Given the description of an element on the screen output the (x, y) to click on. 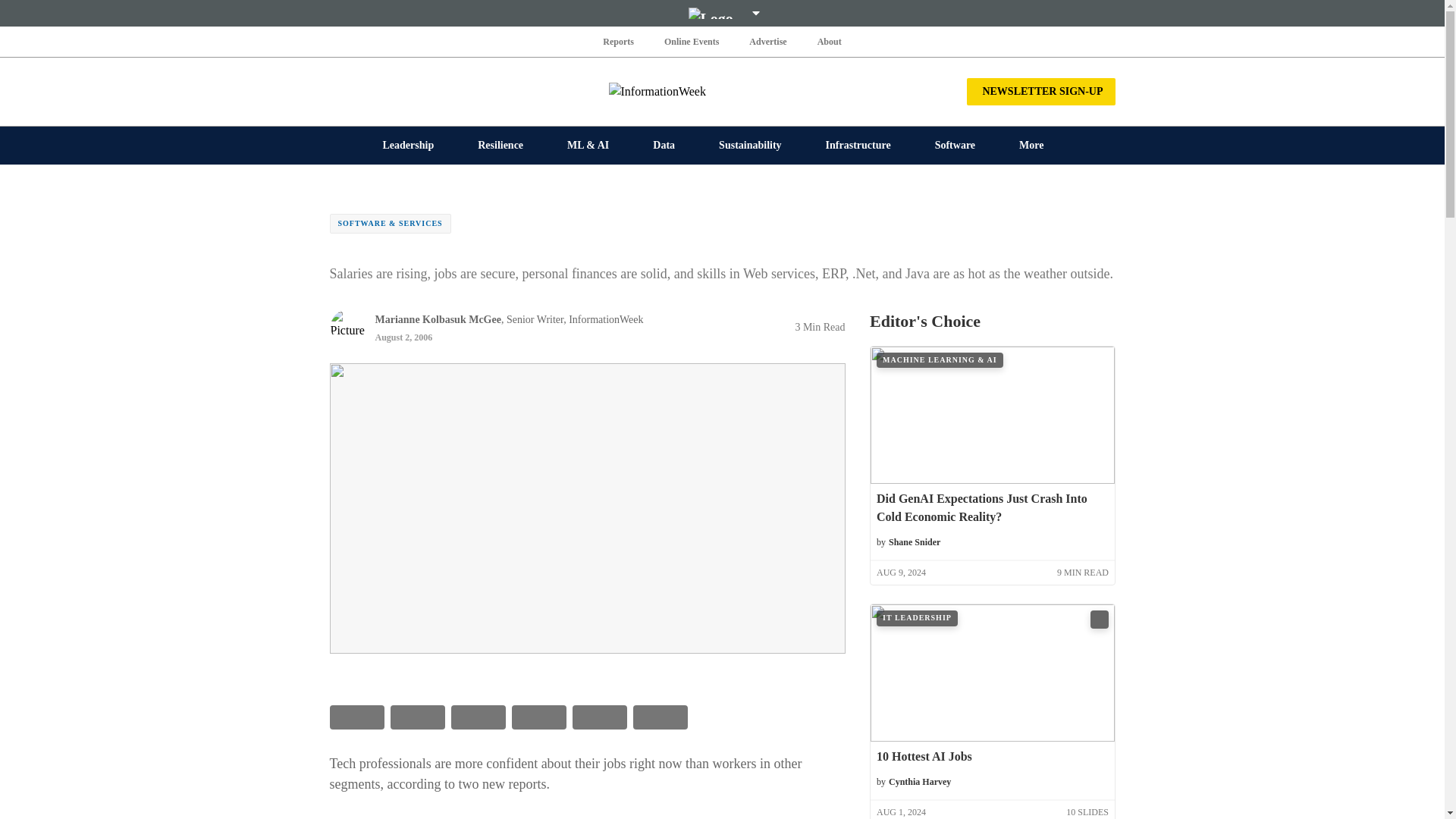
Reports (618, 41)
Online Events (691, 41)
About (828, 41)
NEWSLETTER SIGN-UP (1040, 90)
InformationWeek (721, 91)
Advertise (767, 41)
